Given the description of an element on the screen output the (x, y) to click on. 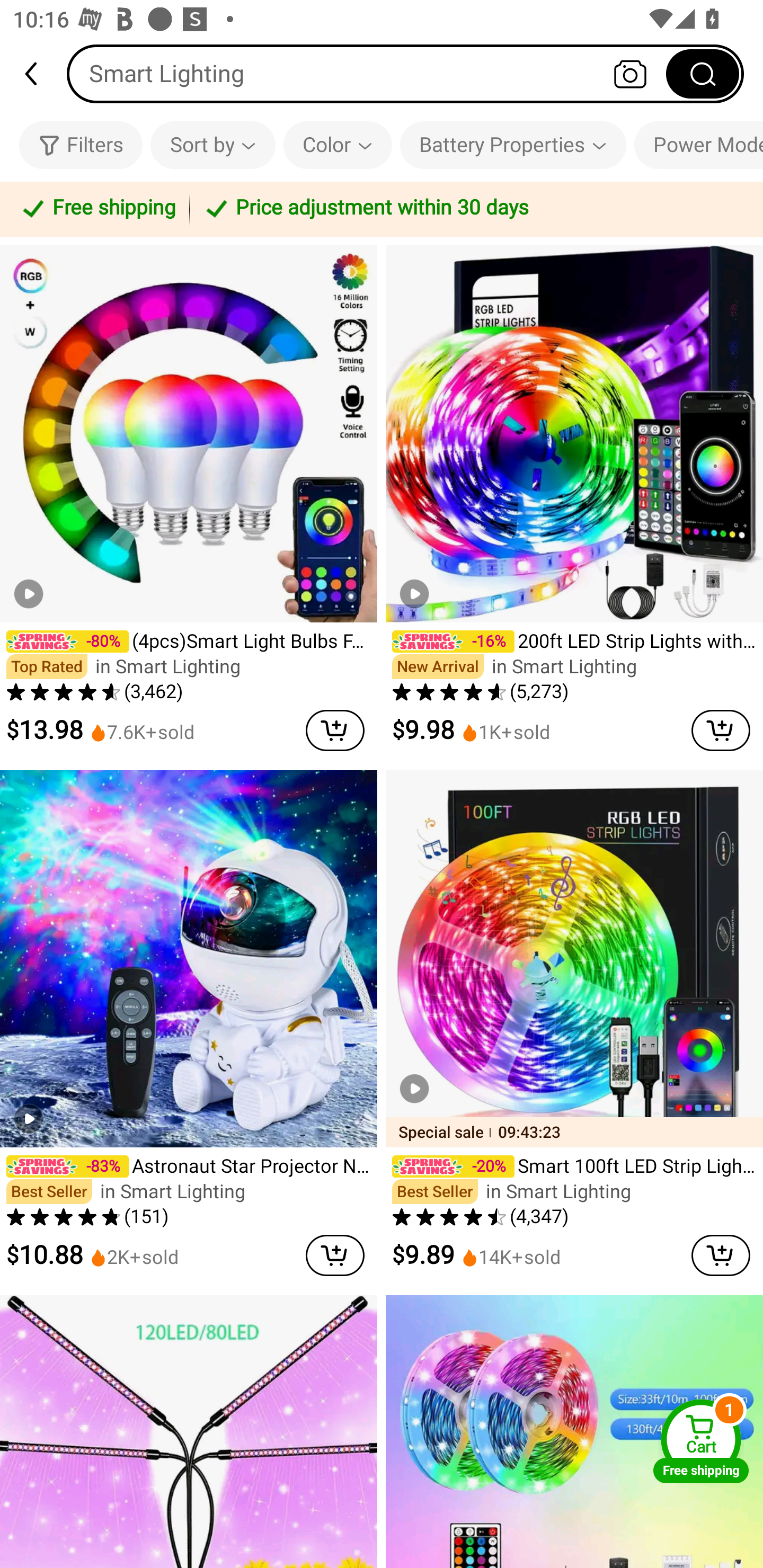
back (39, 73)
Smart Lighting (405, 73)
Filters (80, 144)
Sort by (212, 144)
Color (337, 144)
Battery Properties (512, 144)
Free shipping (97, 209)
Price adjustment within 30 days (472, 209)
cart delete (334, 730)
cart delete (720, 730)
cart delete (334, 1255)
cart delete (720, 1255)
Cart Free shipping Cart (701, 1440)
